Given the description of an element on the screen output the (x, y) to click on. 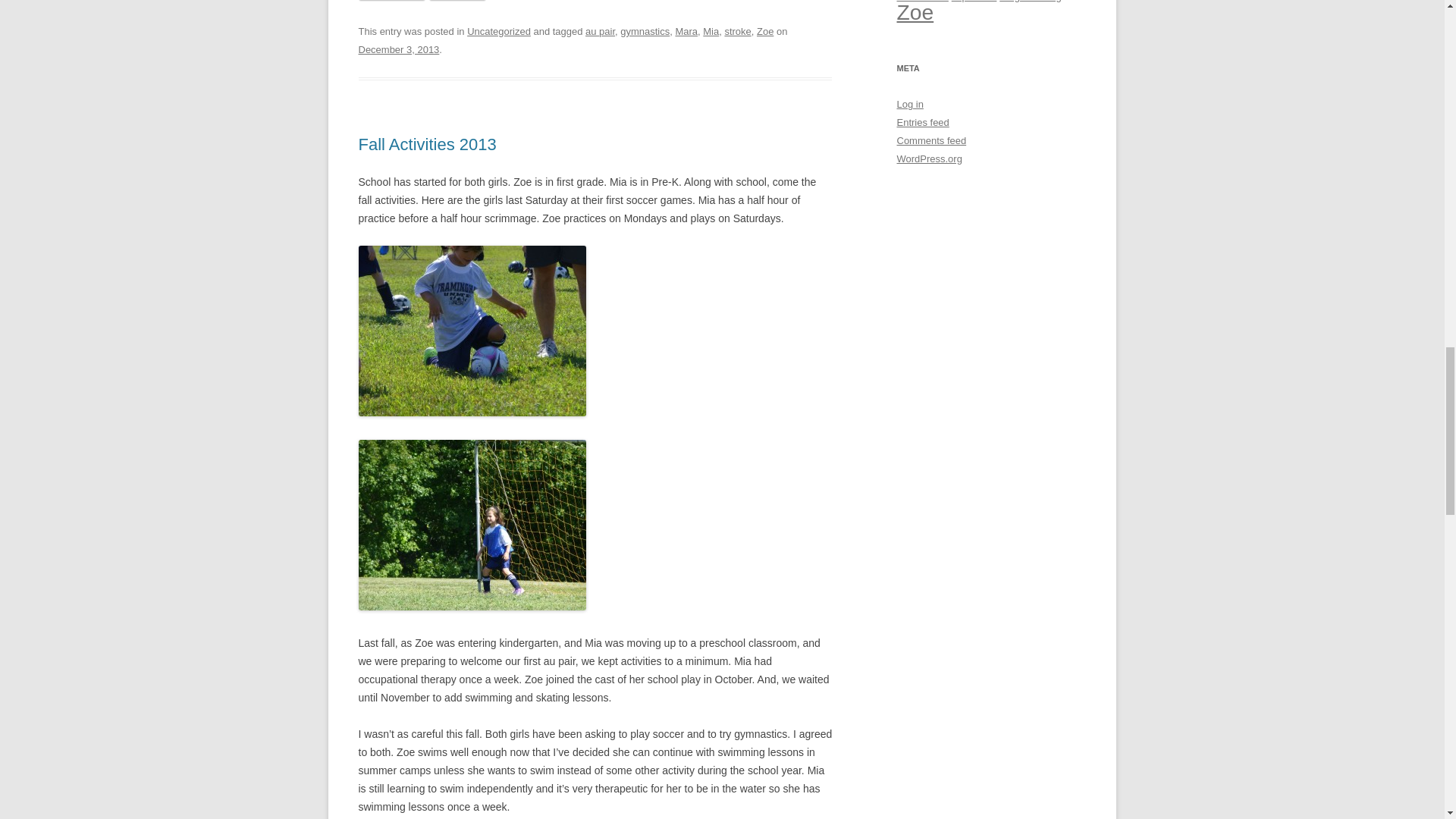
Google (457, 0)
stroke (737, 30)
au pair (599, 30)
9:37 pm (398, 49)
Click to share on Facebook (391, 0)
Uncategorized (499, 30)
December 3, 2013 (398, 49)
Mara (686, 30)
gymnastics (644, 30)
Fall Activities 2013 (427, 144)
Mia (711, 30)
Facebook (391, 0)
Zoe (765, 30)
